Given the description of an element on the screen output the (x, y) to click on. 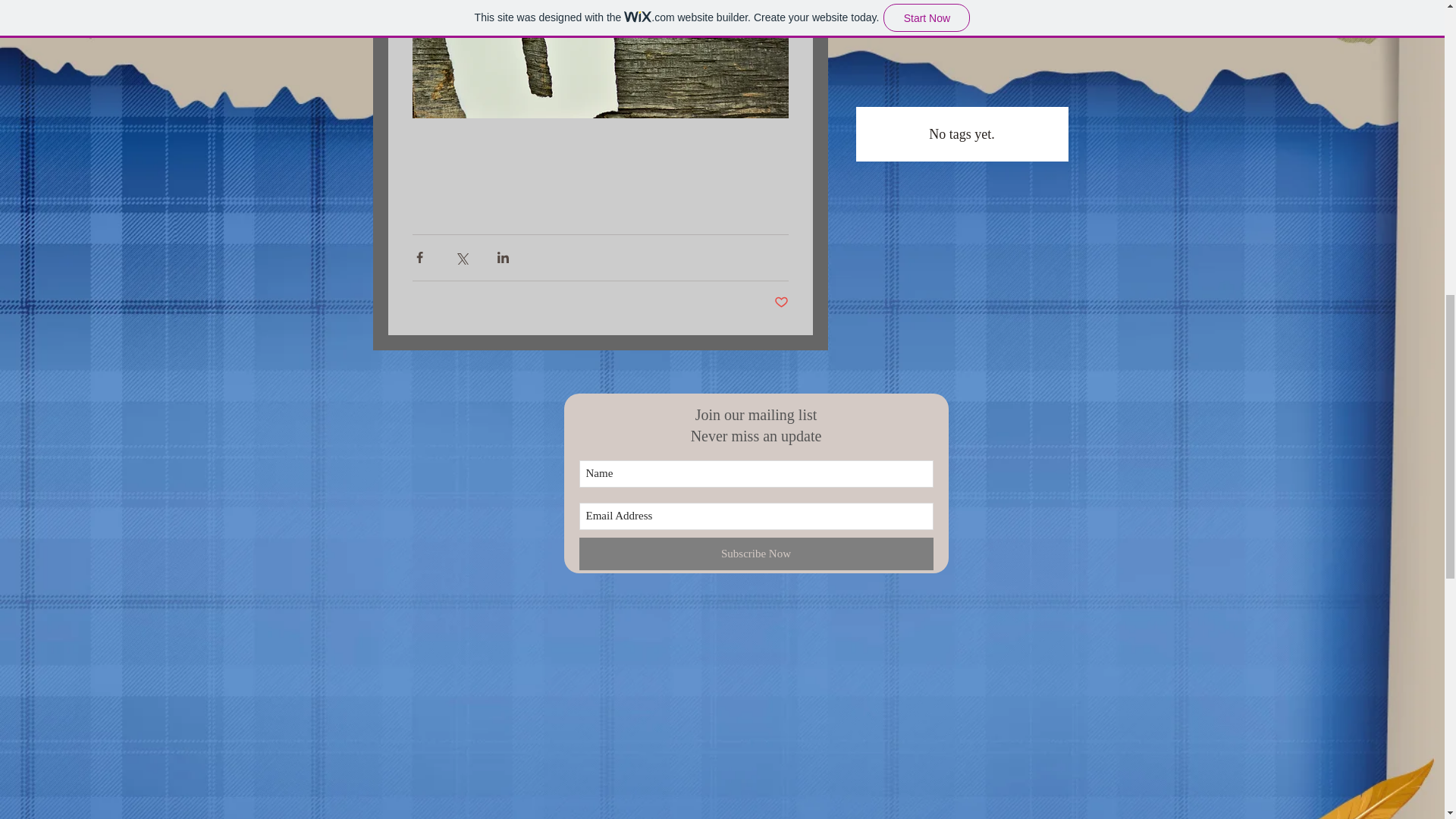
Subscribe Now (756, 553)
Post not marked as liked (780, 302)
